Given the description of an element on the screen output the (x, y) to click on. 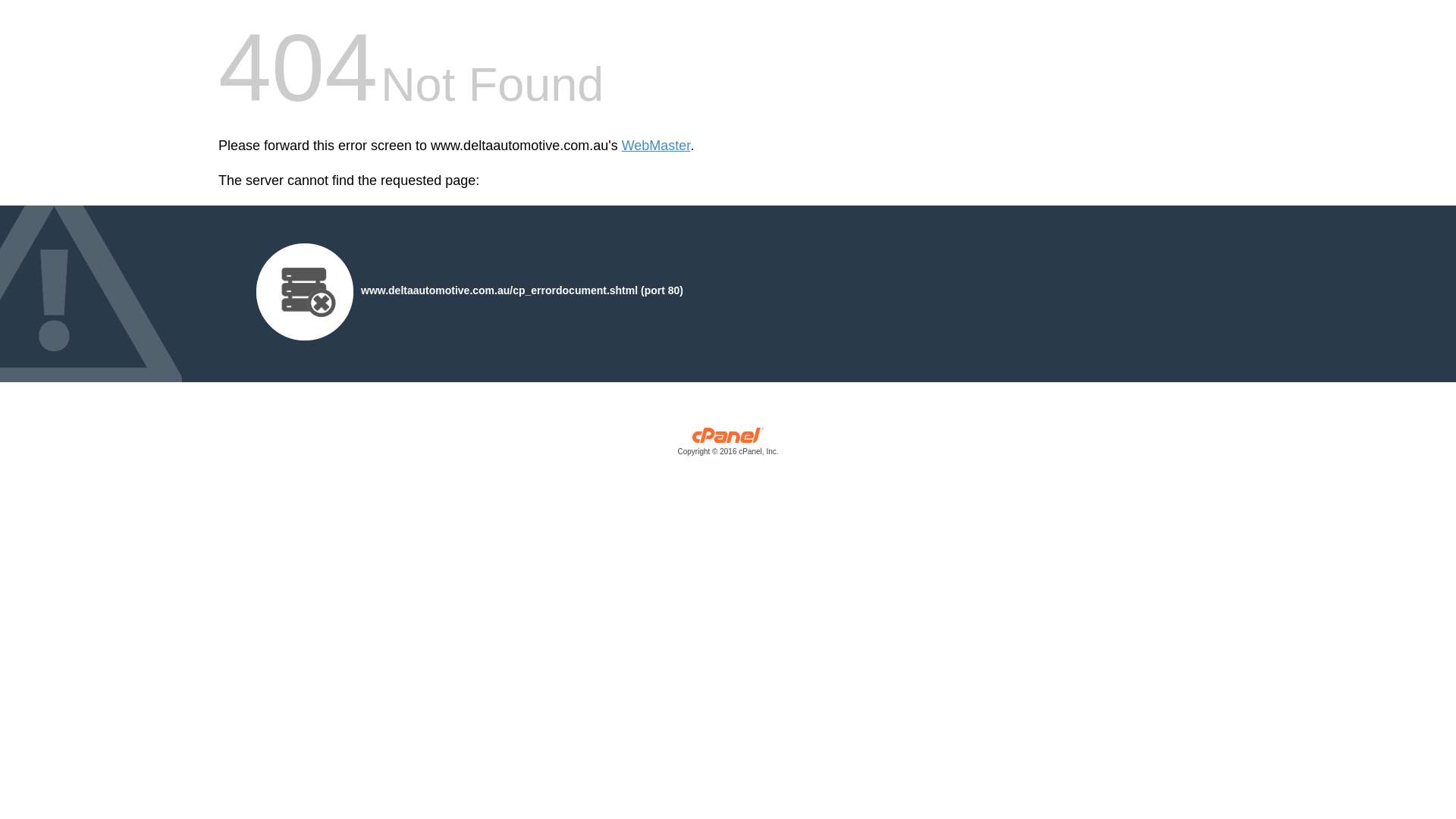
WebMaster Element type: text (655, 145)
